Given the description of an element on the screen output the (x, y) to click on. 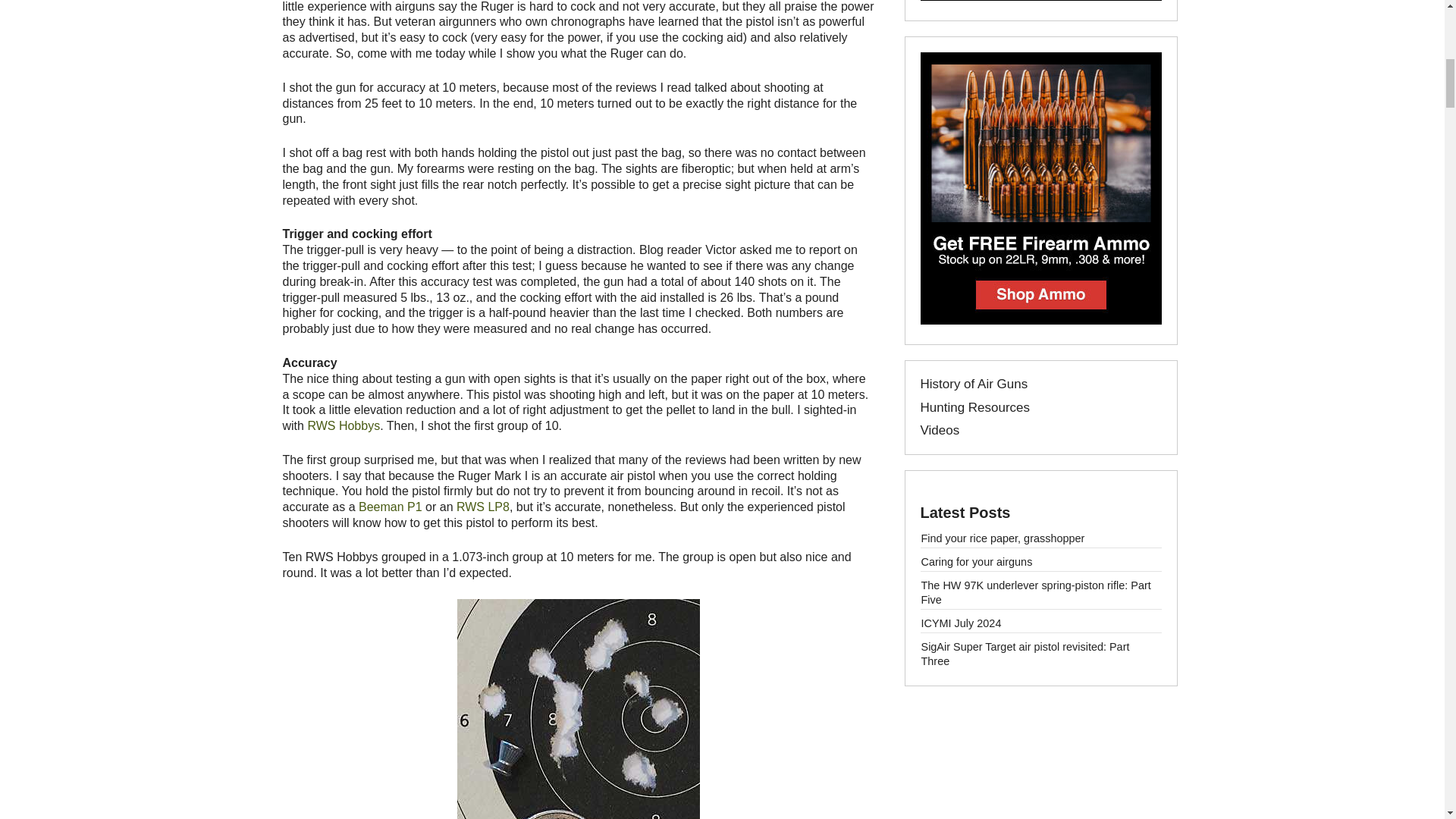
Firearm Ammunition (1040, 319)
RWS Hobbys (343, 425)
View the Best BB Guns (1040, 2)
RWS LP8 (483, 506)
Scroll back to top (1400, 725)
Beeman P1 (390, 506)
